Given the description of an element on the screen output the (x, y) to click on. 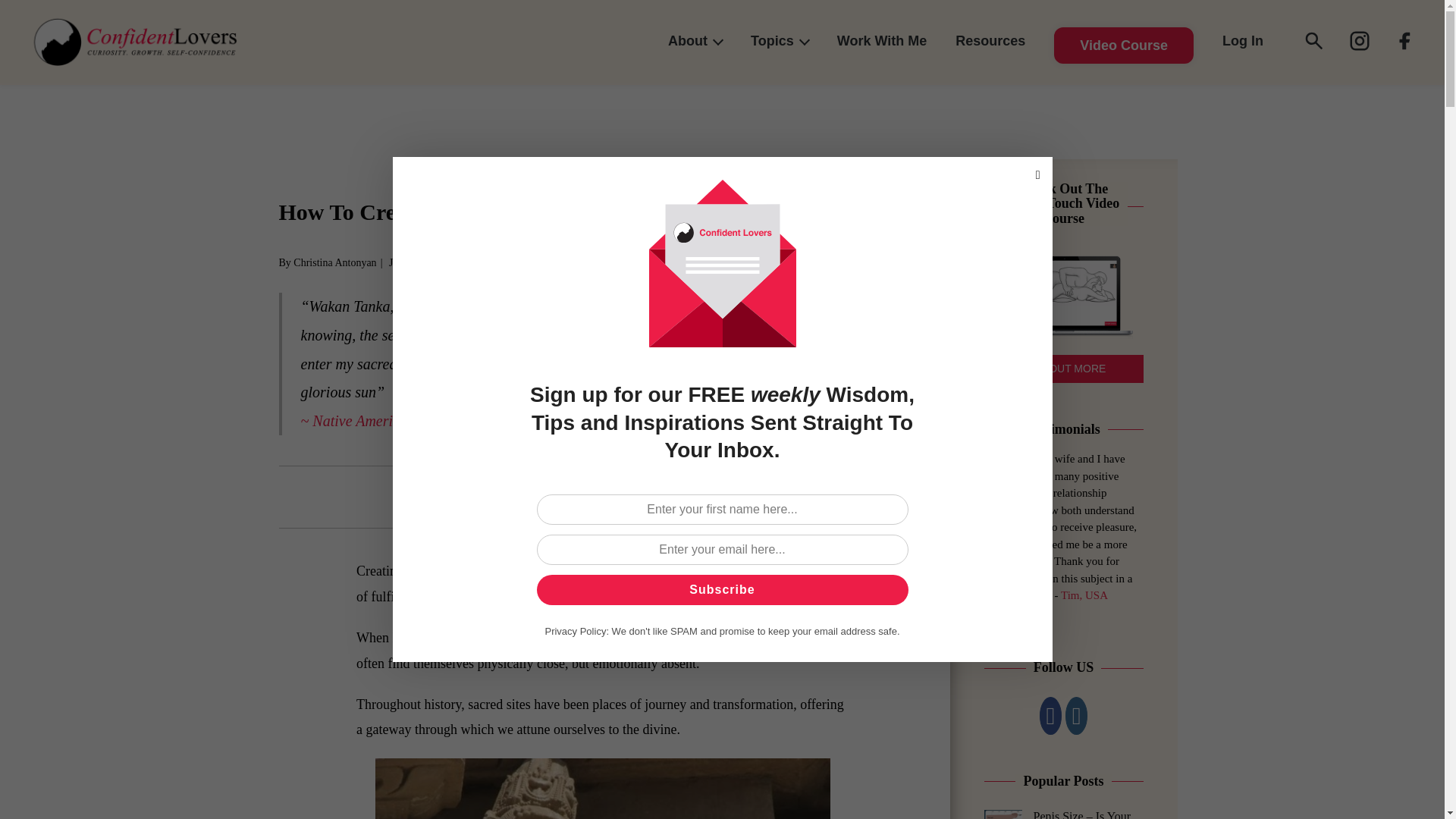
Email (651, 497)
Work With Me (882, 40)
More (699, 497)
Video Course (1123, 40)
Facebook (505, 497)
Posts by Christina Antonyan (334, 262)
Twitter (553, 497)
Resources (990, 40)
Log In (1242, 40)
Topics (779, 40)
FACEBOOK (1358, 40)
About (694, 40)
SIGN UP (1405, 40)
Whatsapp (602, 497)
